Given the description of an element on the screen output the (x, y) to click on. 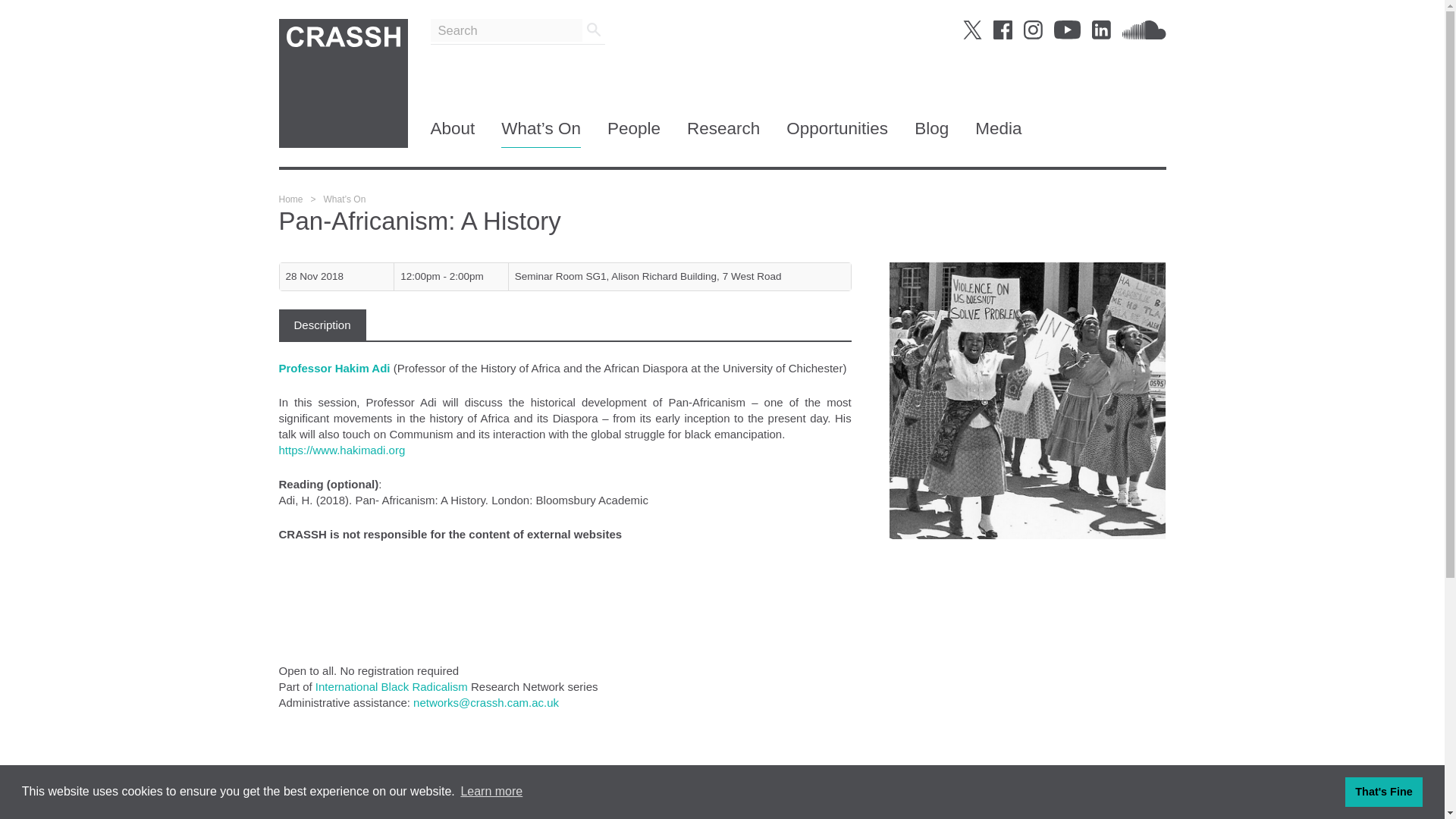
Home (290, 199)
Professor Hakim Adi (336, 367)
Research (723, 132)
About (453, 132)
Learn more (491, 791)
Opportunities (837, 132)
That's Fine (1383, 791)
Media (998, 132)
People (634, 132)
International Black Radicalism (391, 685)
Blog (931, 132)
